Given the description of an element on the screen output the (x, y) to click on. 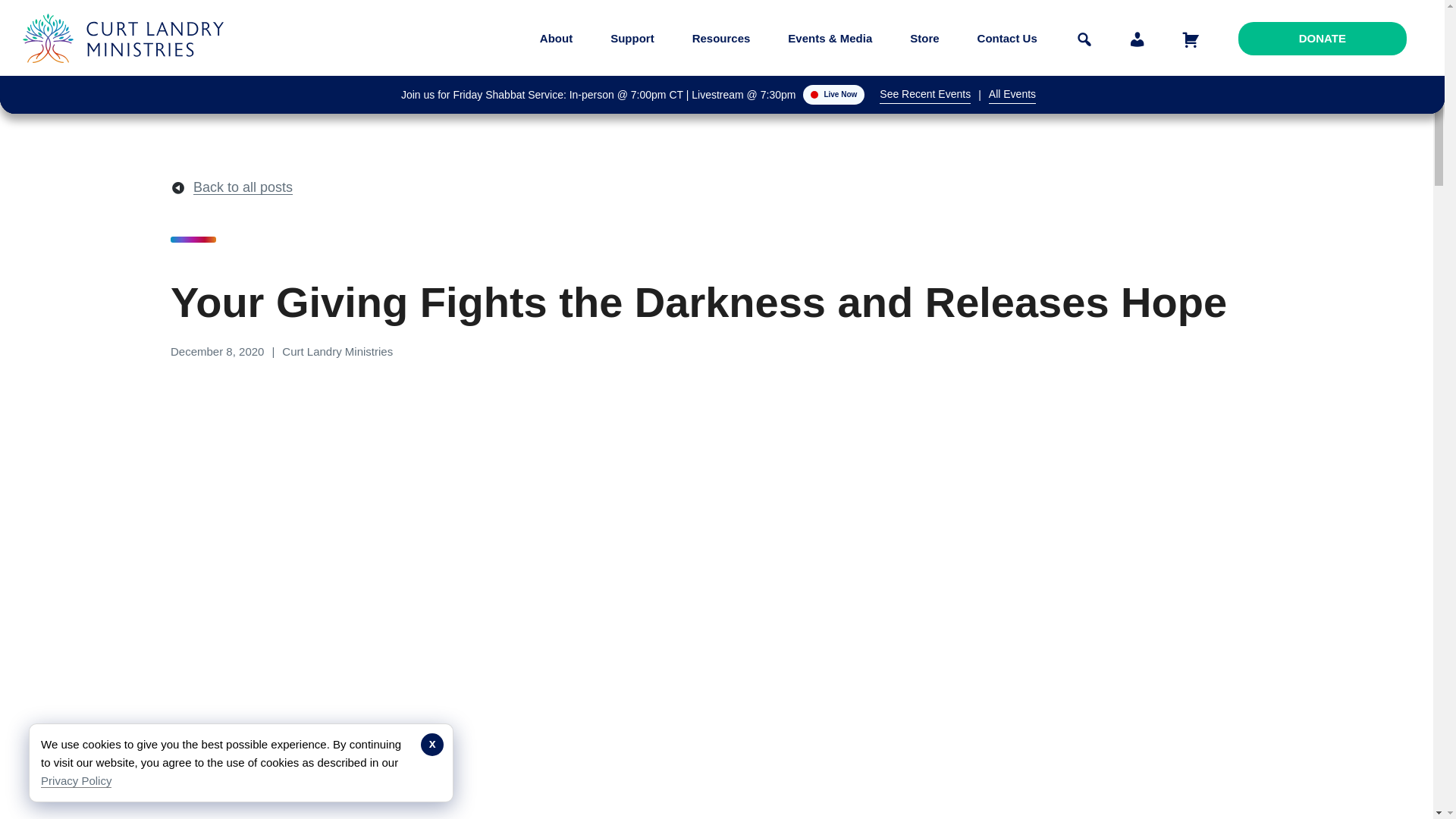
Support (631, 38)
Resources (721, 38)
About (556, 38)
Store (924, 38)
Curt Landry Ministries (127, 74)
